Given the description of an element on the screen output the (x, y) to click on. 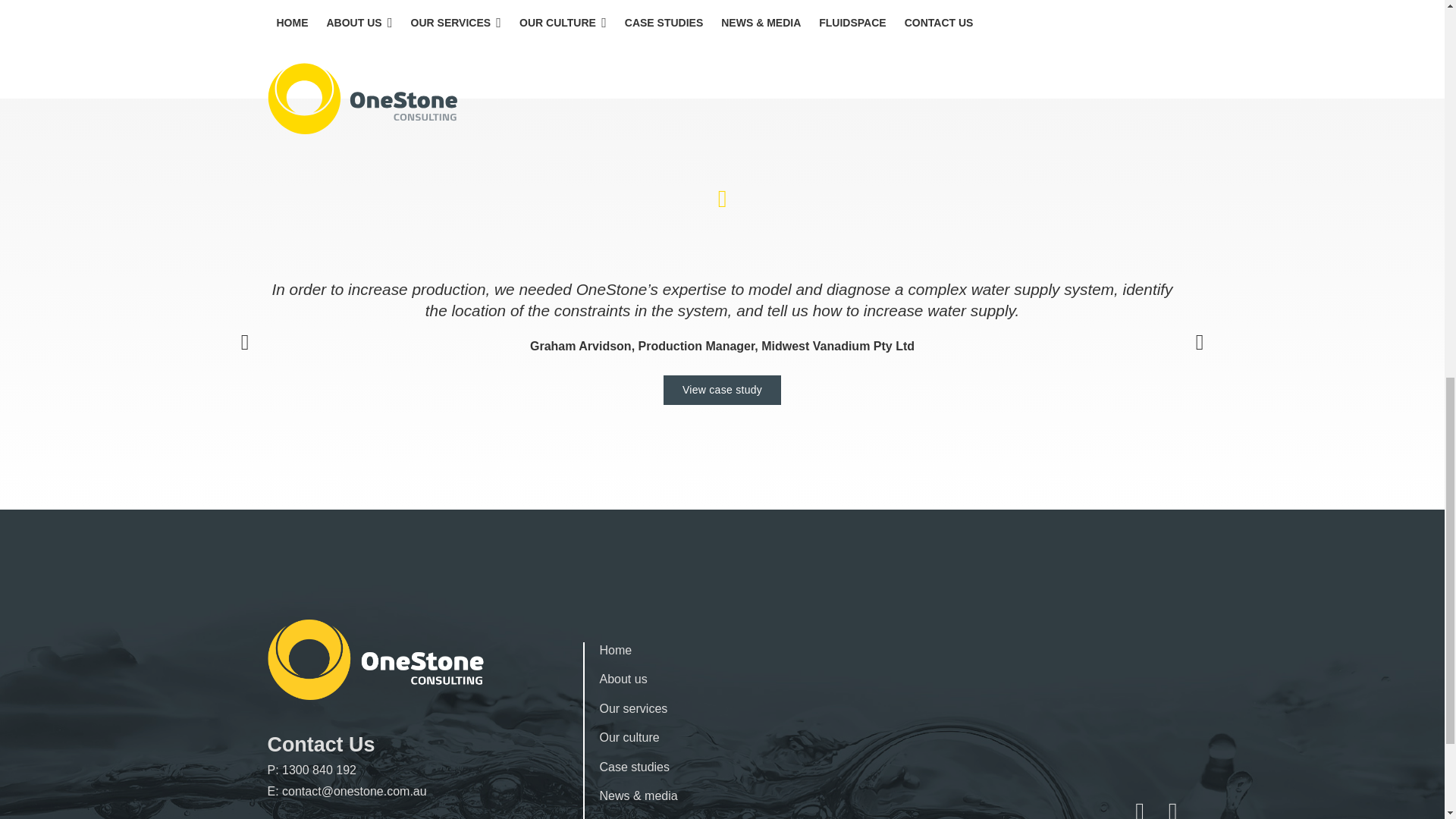
Our culture (628, 737)
View case study (721, 389)
Home (614, 649)
FluidSpace (628, 818)
About us (622, 678)
Our services (632, 707)
Case studies (633, 766)
